Given the description of an element on the screen output the (x, y) to click on. 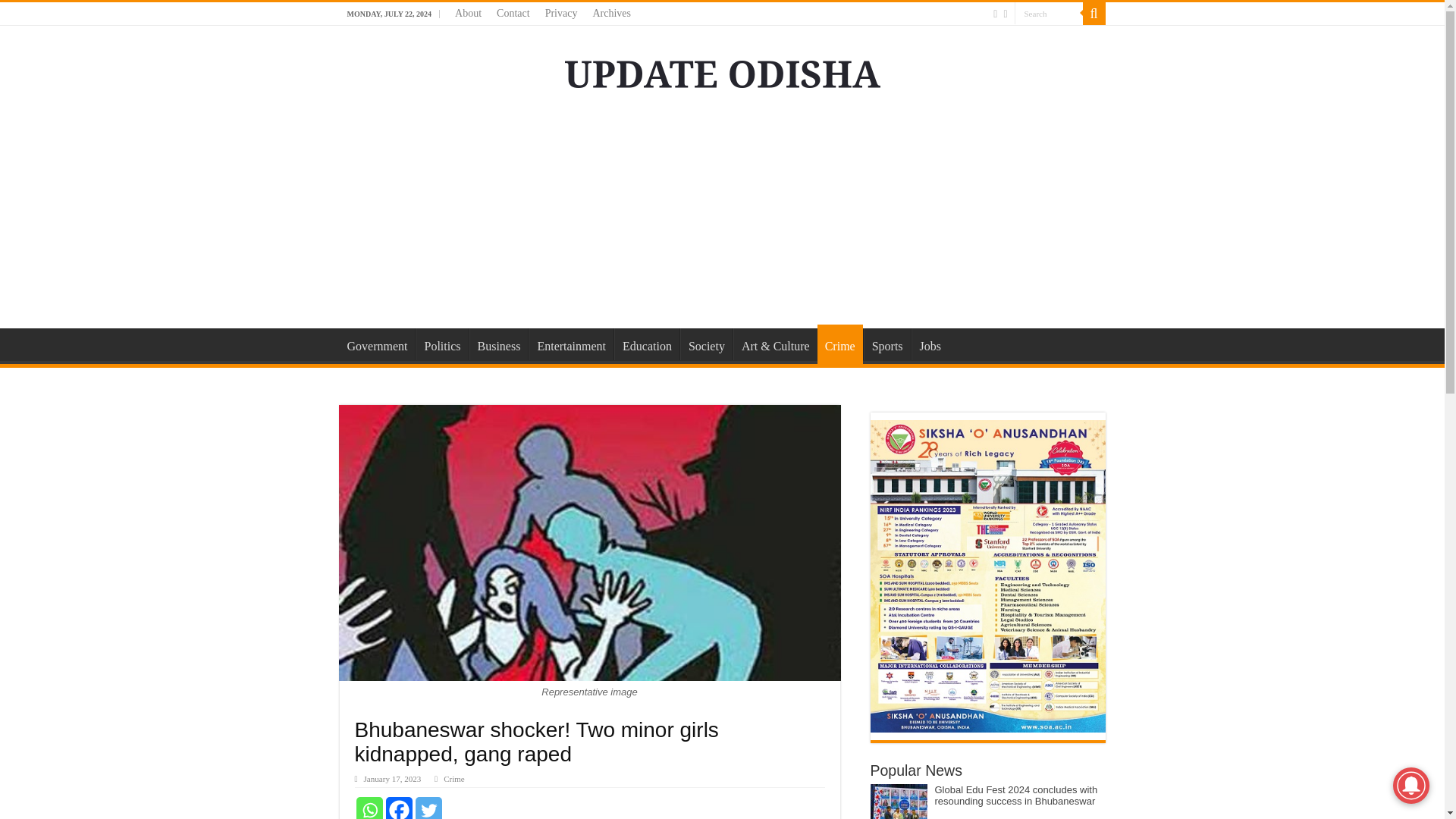
Government (376, 344)
Archives (612, 13)
Sports (887, 344)
Privacy (561, 13)
Advertisement (721, 206)
Crime (839, 343)
Search (1048, 13)
Twitter (428, 807)
Search (1048, 13)
Crime (454, 777)
Entertainment (570, 344)
Update Odisha-Odisha News I Latest News (721, 70)
Contact (513, 13)
Politics (440, 344)
Search (1048, 13)
